Given the description of an element on the screen output the (x, y) to click on. 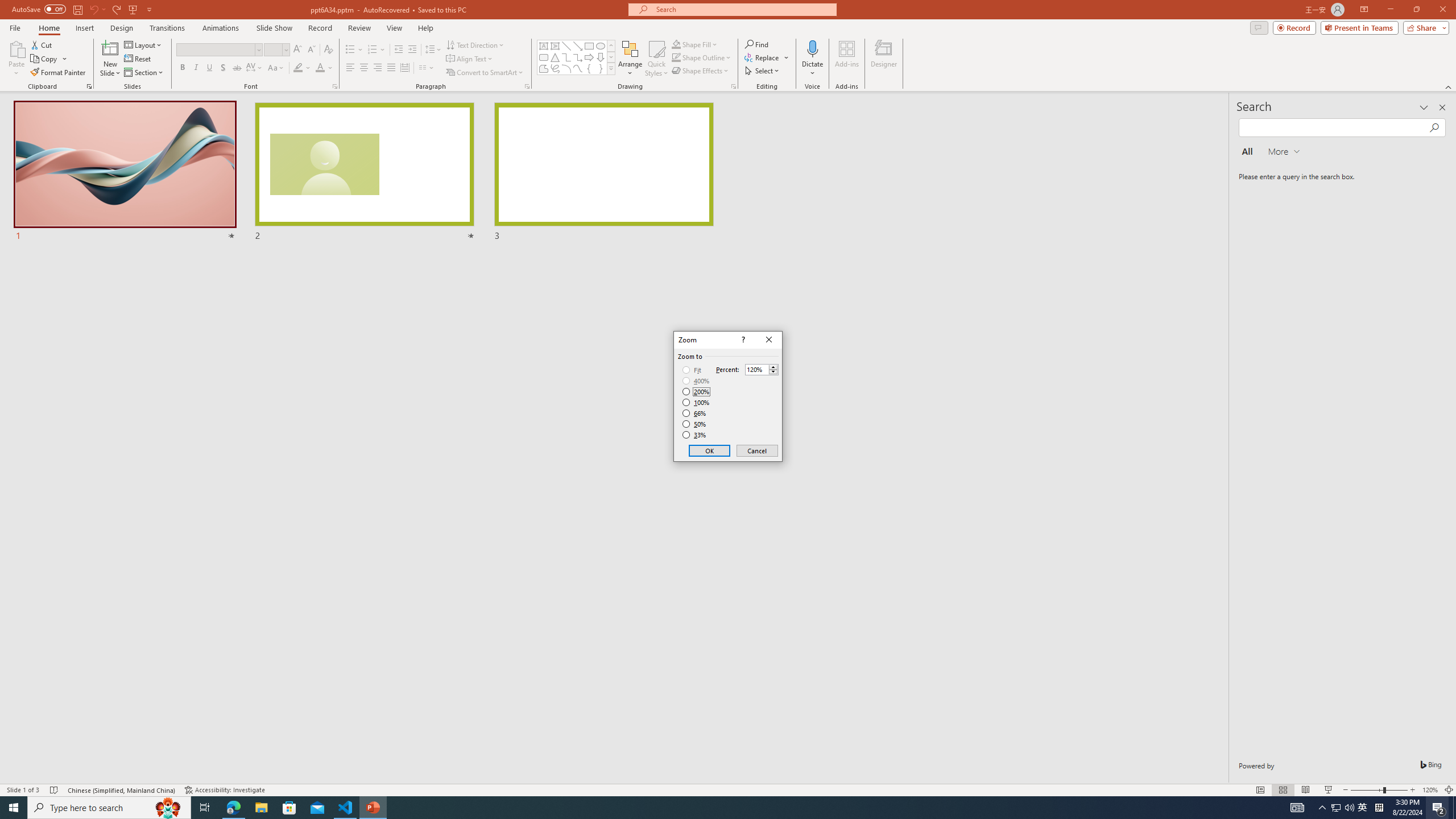
Percent (761, 369)
